Given the description of an element on the screen output the (x, y) to click on. 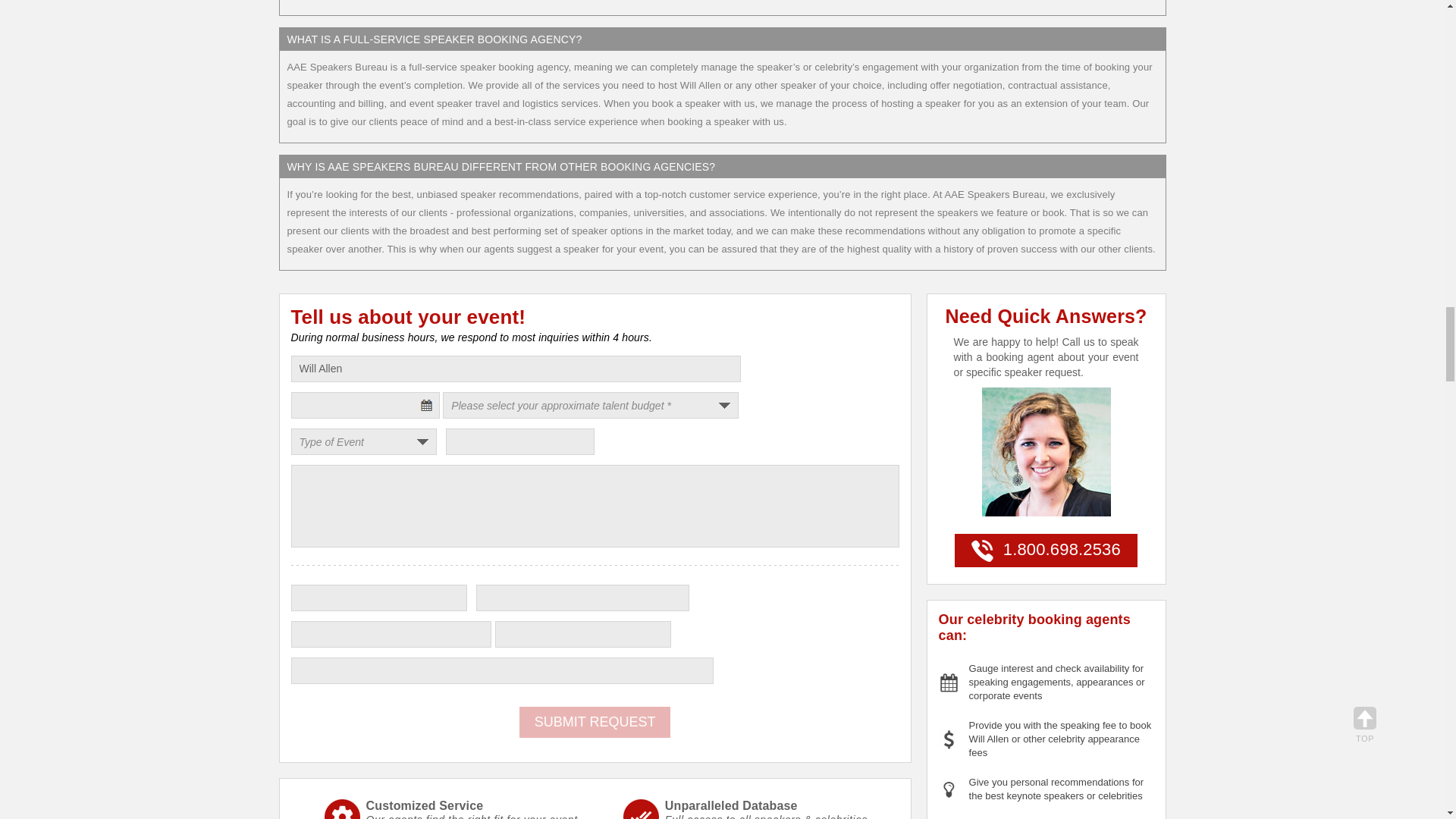
SUBMIT REQUEST (595, 721)
Will Allen (516, 368)
